Given the description of an element on the screen output the (x, y) to click on. 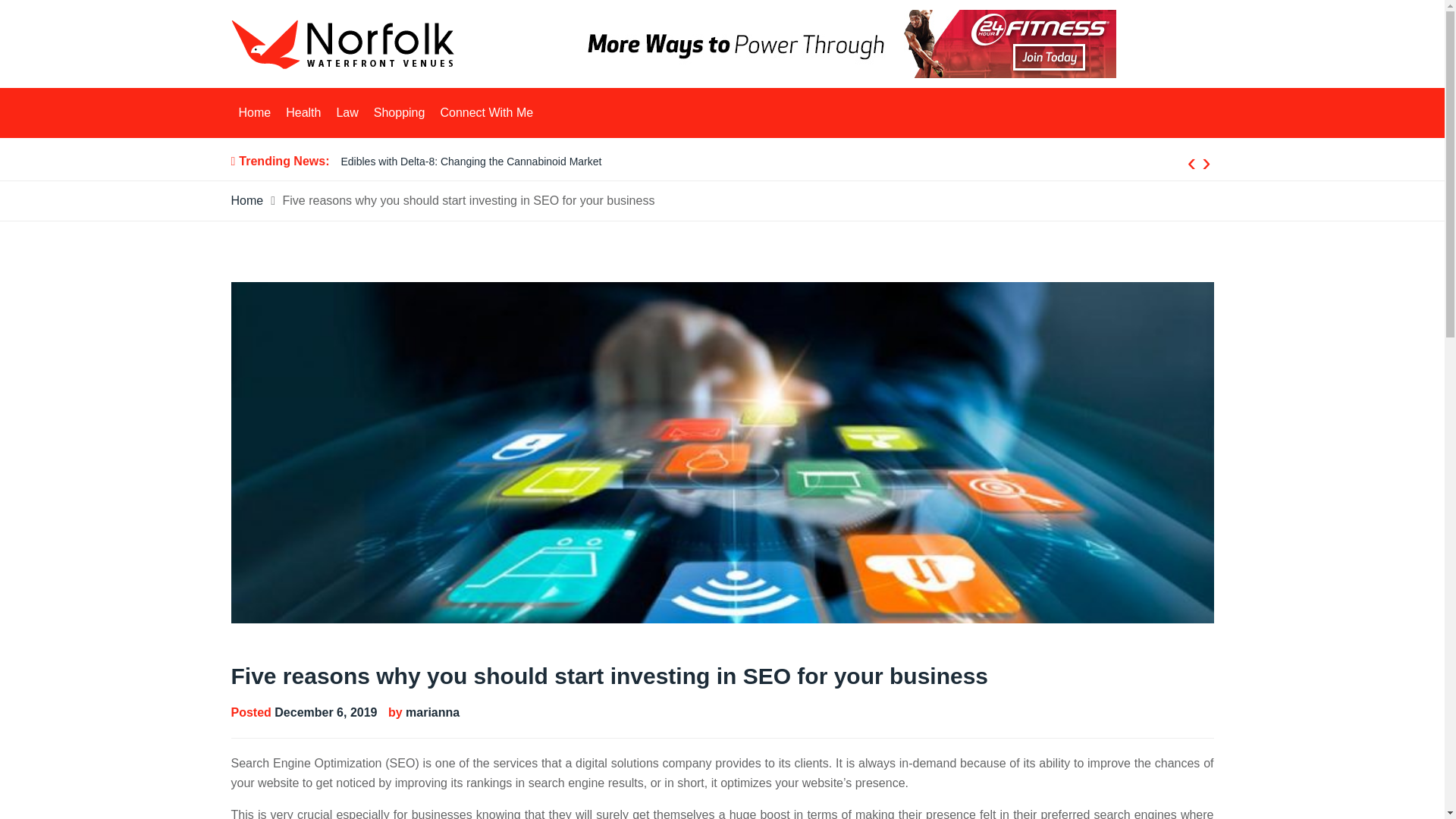
Home (254, 112)
Shopping (399, 112)
Health (303, 112)
Norfolk Waterfront Venues (399, 78)
Connect With Me (486, 112)
